Given the description of an element on the screen output the (x, y) to click on. 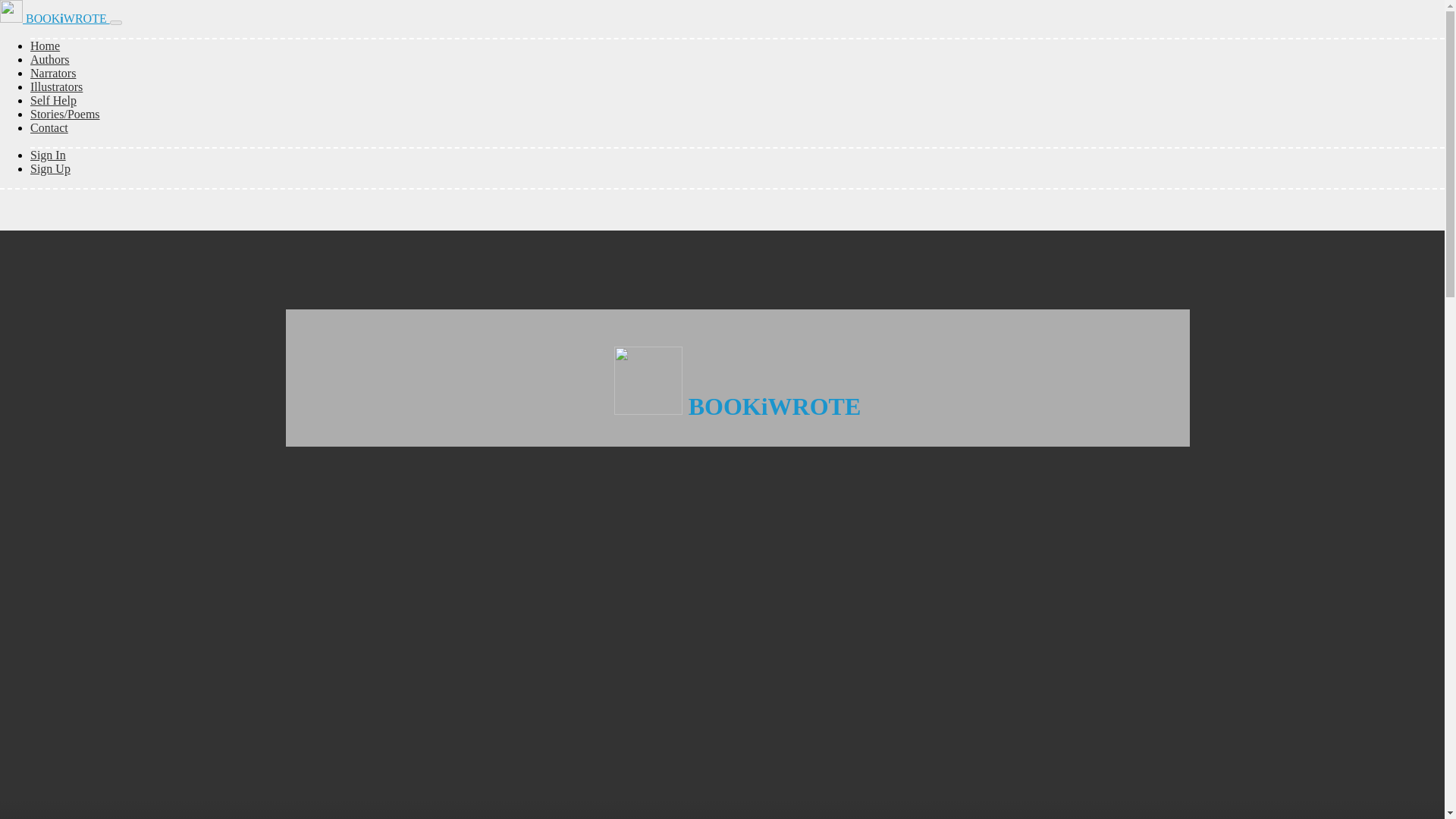
Authors (49, 59)
Contact (49, 127)
Self Help (53, 100)
BOOKiWROTE (55, 18)
Sign Up (49, 168)
Sign In (47, 154)
Narrators (52, 72)
Illustrators (56, 86)
Home (44, 45)
